Given the description of an element on the screen output the (x, y) to click on. 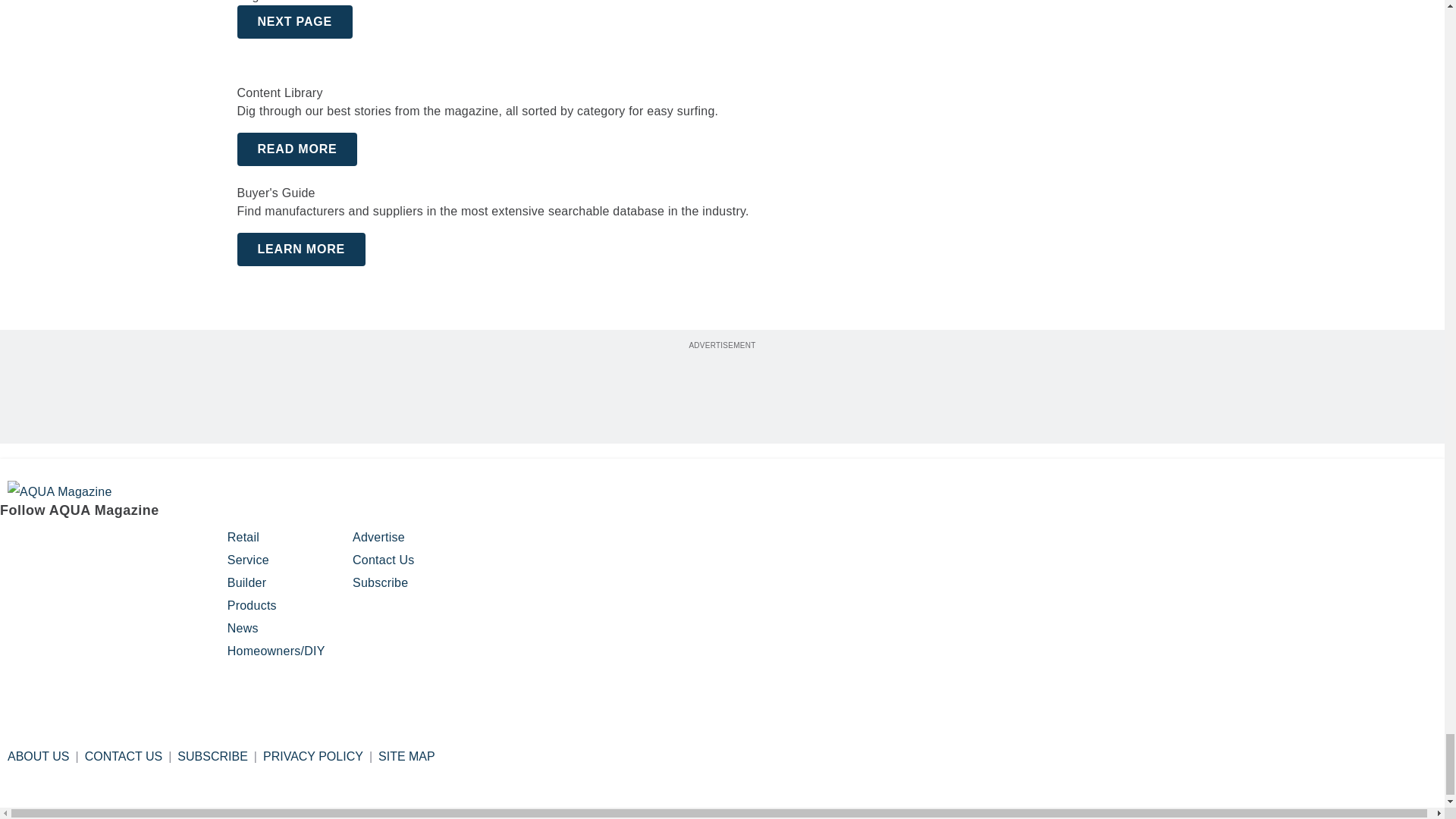
LinkedIn icon (172, 543)
Instagram icon (52, 543)
Facebook icon (13, 543)
Pinterest icon (90, 543)
Twitter X icon (129, 543)
